Given the description of an element on the screen output the (x, y) to click on. 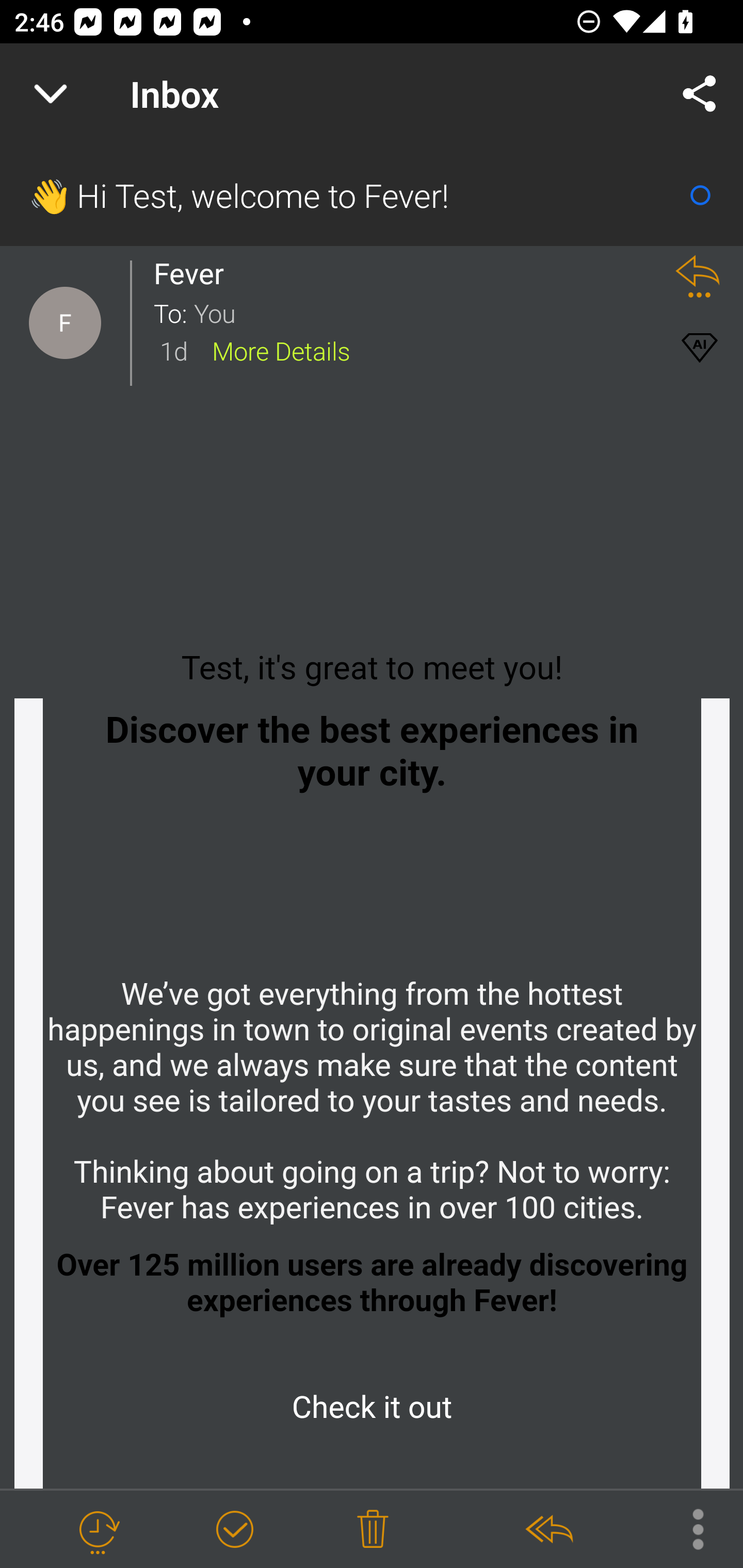
Navigate up (50, 93)
Share (699, 93)
Mark as Read (699, 194)
Fever (193, 273)
Contact Details (64, 322)
More Details (280, 349)
Check it out (371, 1408)
More Options (687, 1528)
Snooze (97, 1529)
Mark as Done (234, 1529)
Delete (372, 1529)
Reply All (548, 1529)
